Given the description of an element on the screen output the (x, y) to click on. 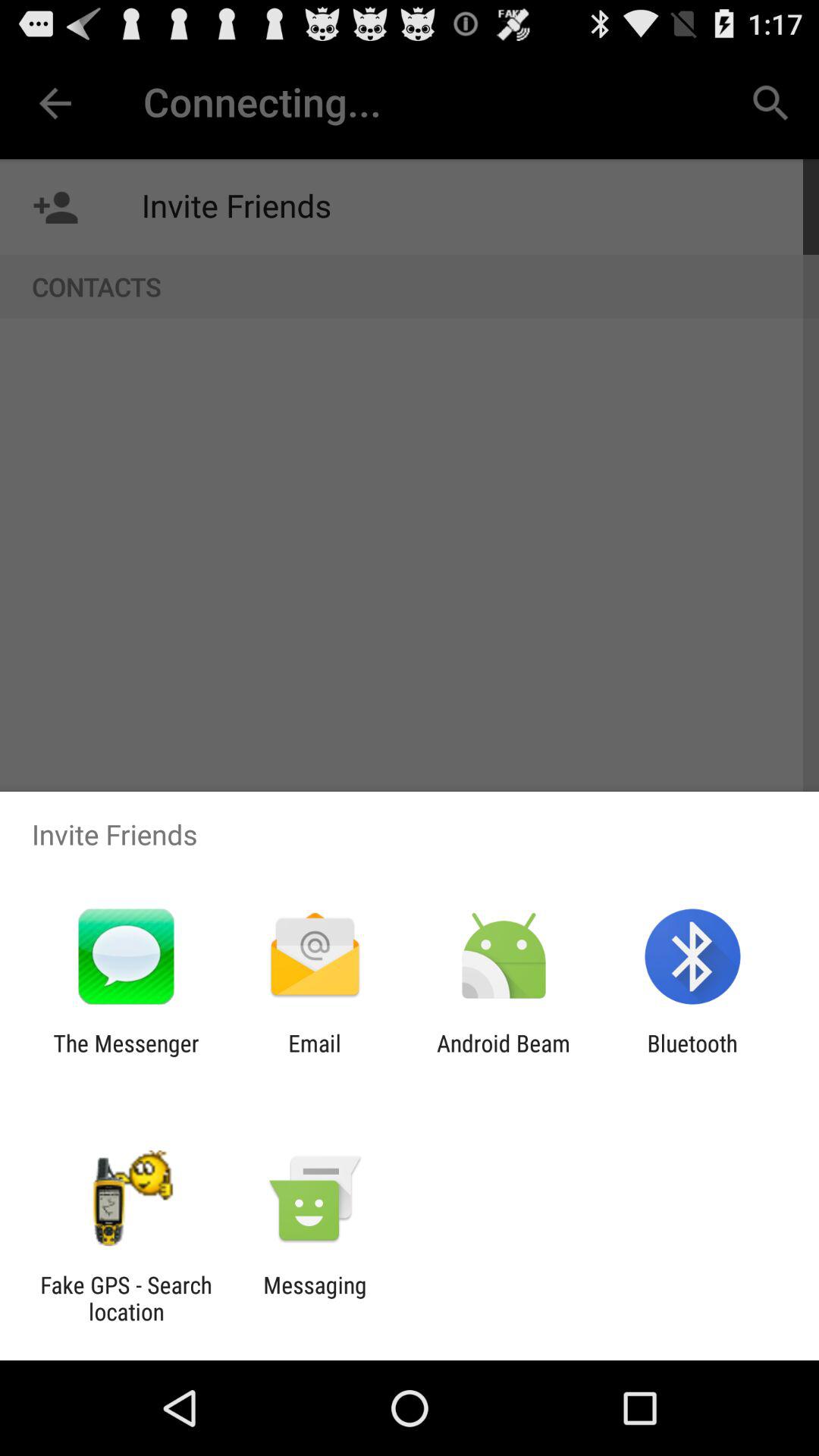
press the item next to fake gps search item (314, 1298)
